Given the description of an element on the screen output the (x, y) to click on. 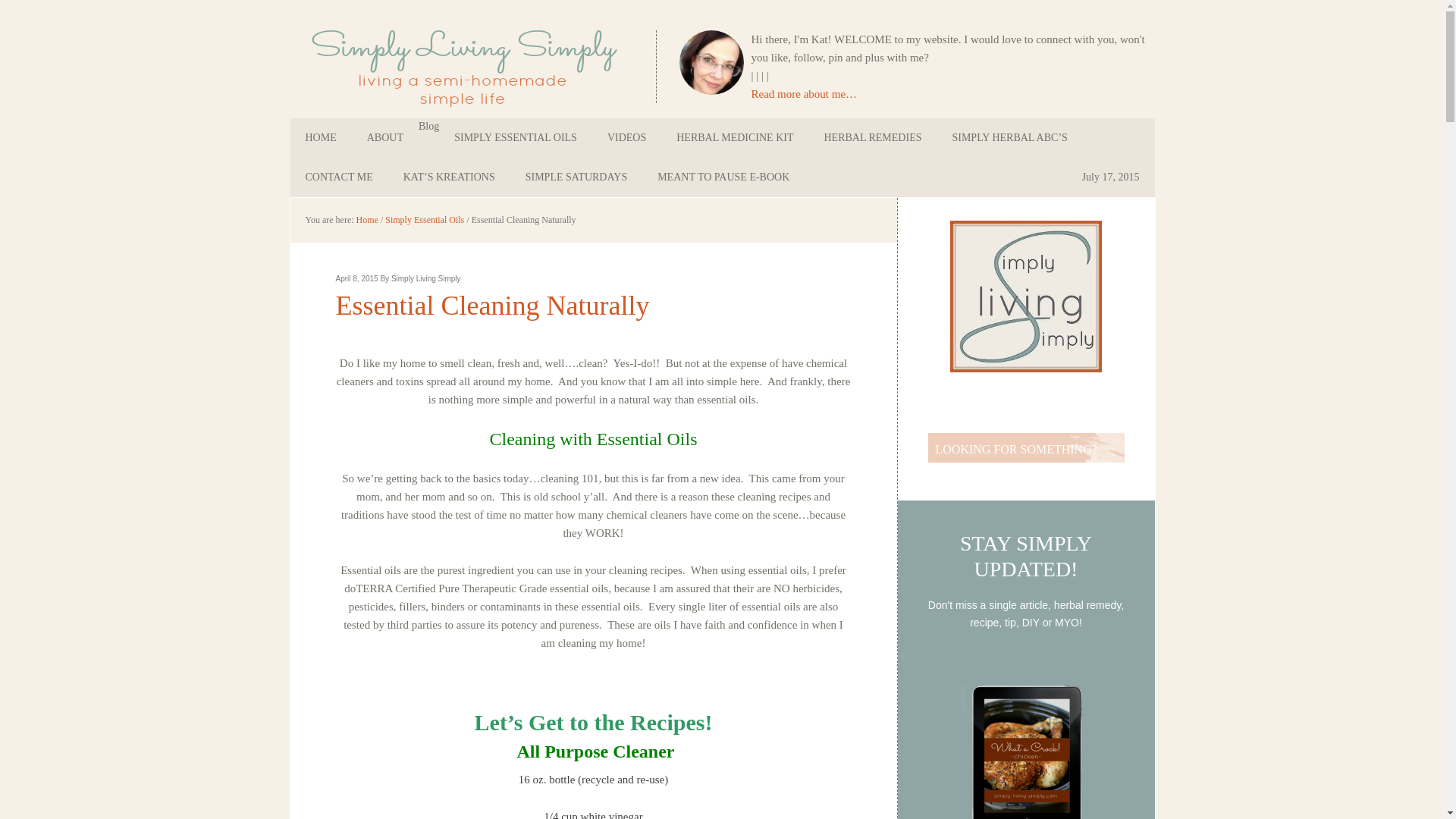
ABOUT (385, 137)
Simply Living Simply (397, 33)
MEANT TO PAUSE E-BOOK (723, 177)
VIDEOS (626, 137)
HOME (319, 137)
HERBAL MEDICINE KIT (734, 137)
SIMPLY ESSENTIAL OILS (515, 137)
Simply Essential Oils (424, 219)
HERBAL REMEDIES (872, 137)
SIMPLE SATURDAYS (576, 177)
CONTACT ME (338, 177)
Home (367, 219)
